Given the description of an element on the screen output the (x, y) to click on. 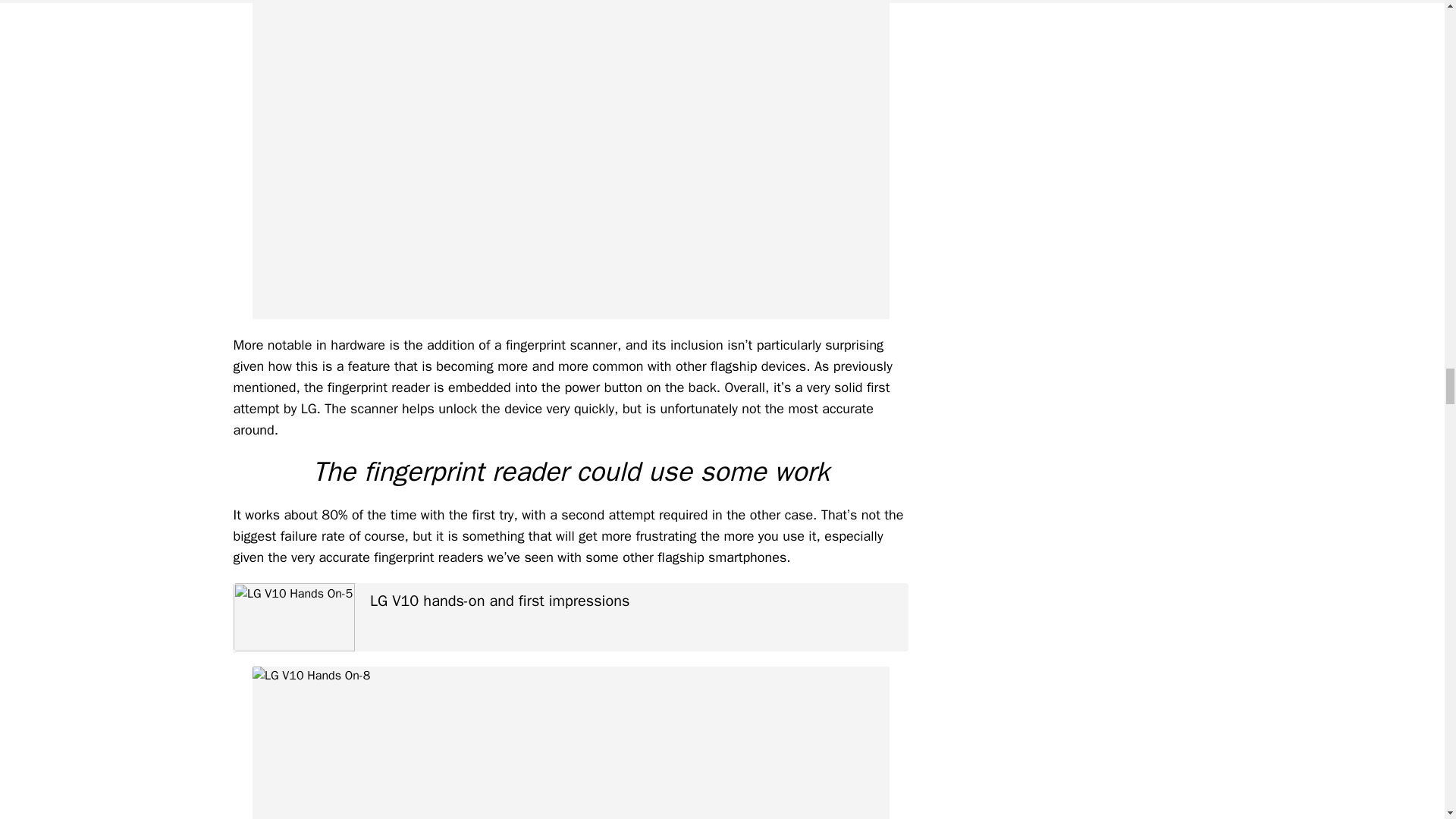
LG V10 Hands On-8 (569, 742)
LG V10 hands-on and first impressions (570, 617)
LG V10 Hands On-5 (293, 617)
